Given the description of an element on the screen output the (x, y) to click on. 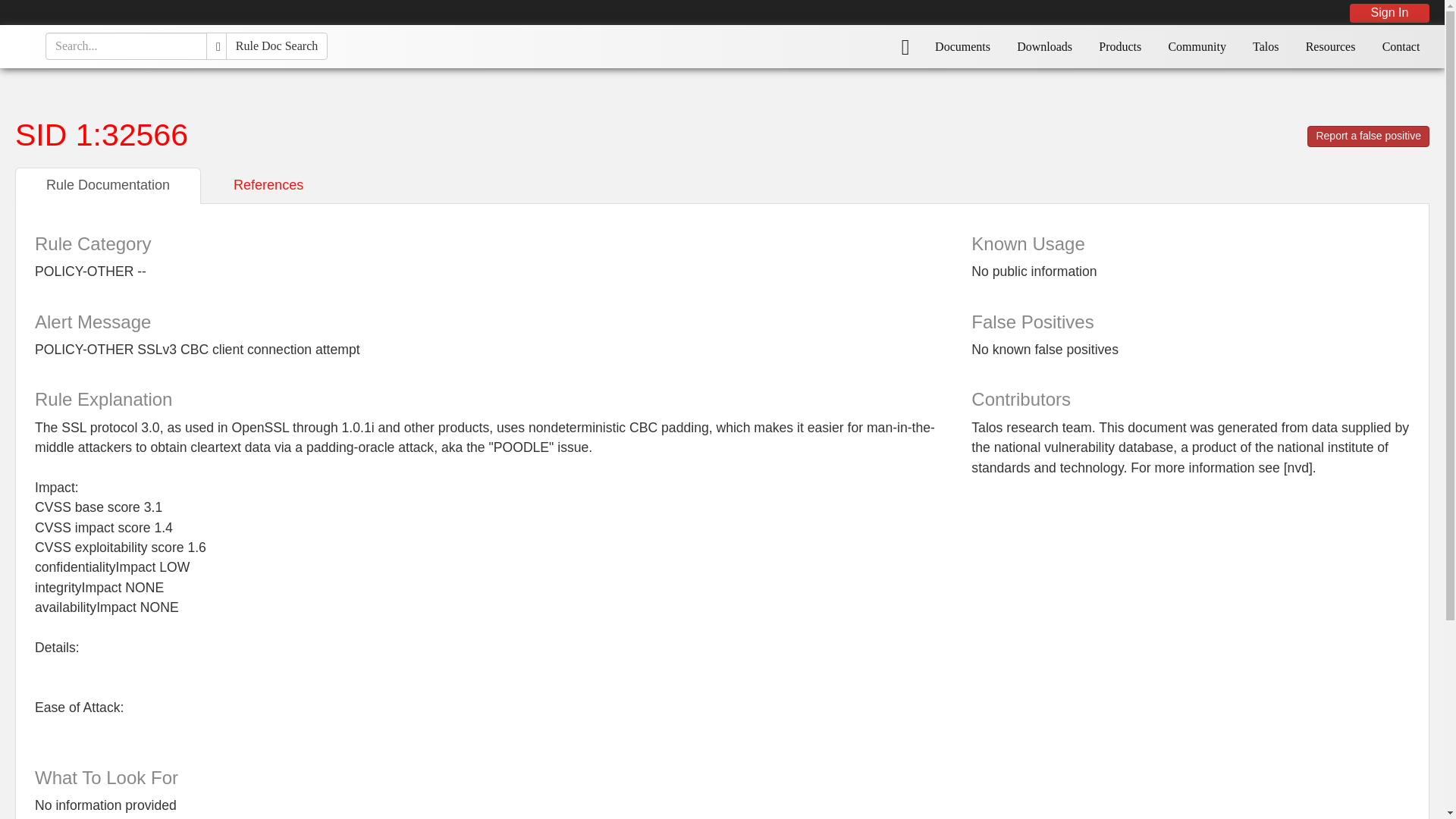
Downloads (1045, 46)
References (268, 185)
Resources (1330, 46)
Products (1120, 46)
Contact (1400, 46)
Rule Doc Search (276, 45)
Community (1197, 46)
Sign In (1389, 11)
Documents (962, 46)
Rule Documentation (107, 185)
